Given the description of an element on the screen output the (x, y) to click on. 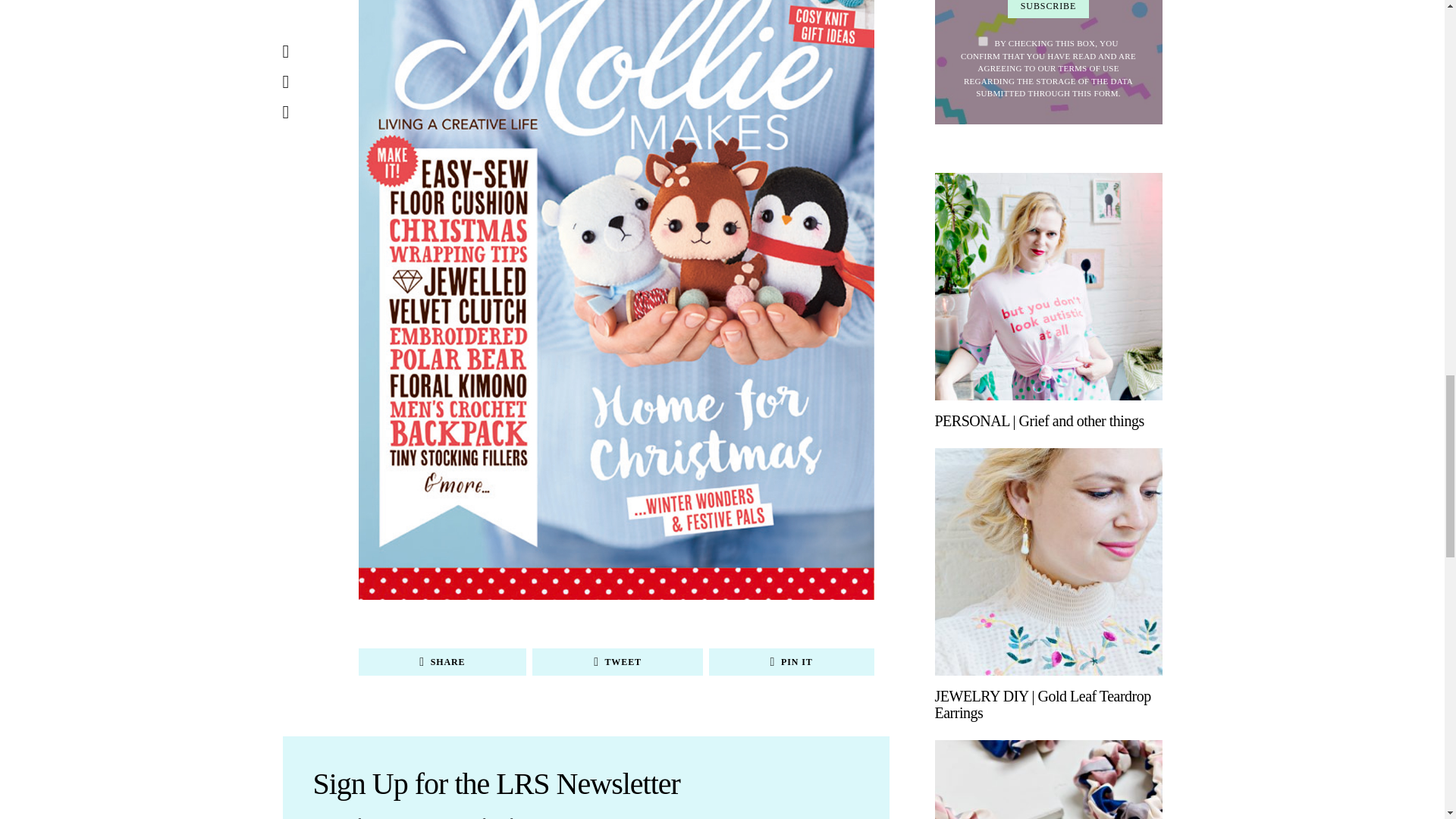
on (983, 40)
